Given the description of an element on the screen output the (x, y) to click on. 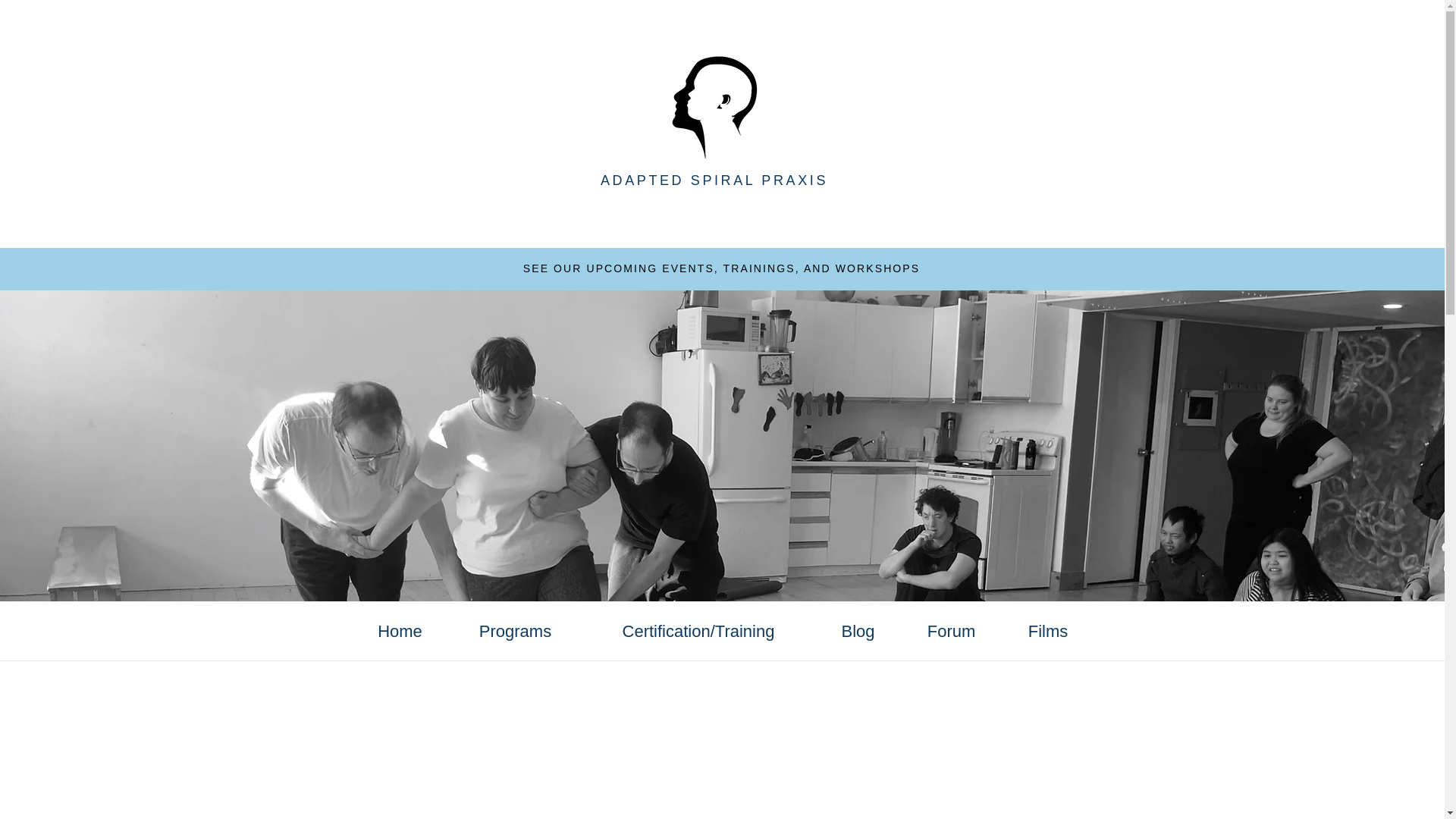
Films (1048, 631)
Home (399, 631)
ADAPTED SPIRAL PRAXIS (713, 180)
Forum (952, 631)
SEE OUR UPCOMING EVENTS, TRAININGS, AND WORKSHOPS (721, 268)
Blog (858, 631)
